Given the description of an element on the screen output the (x, y) to click on. 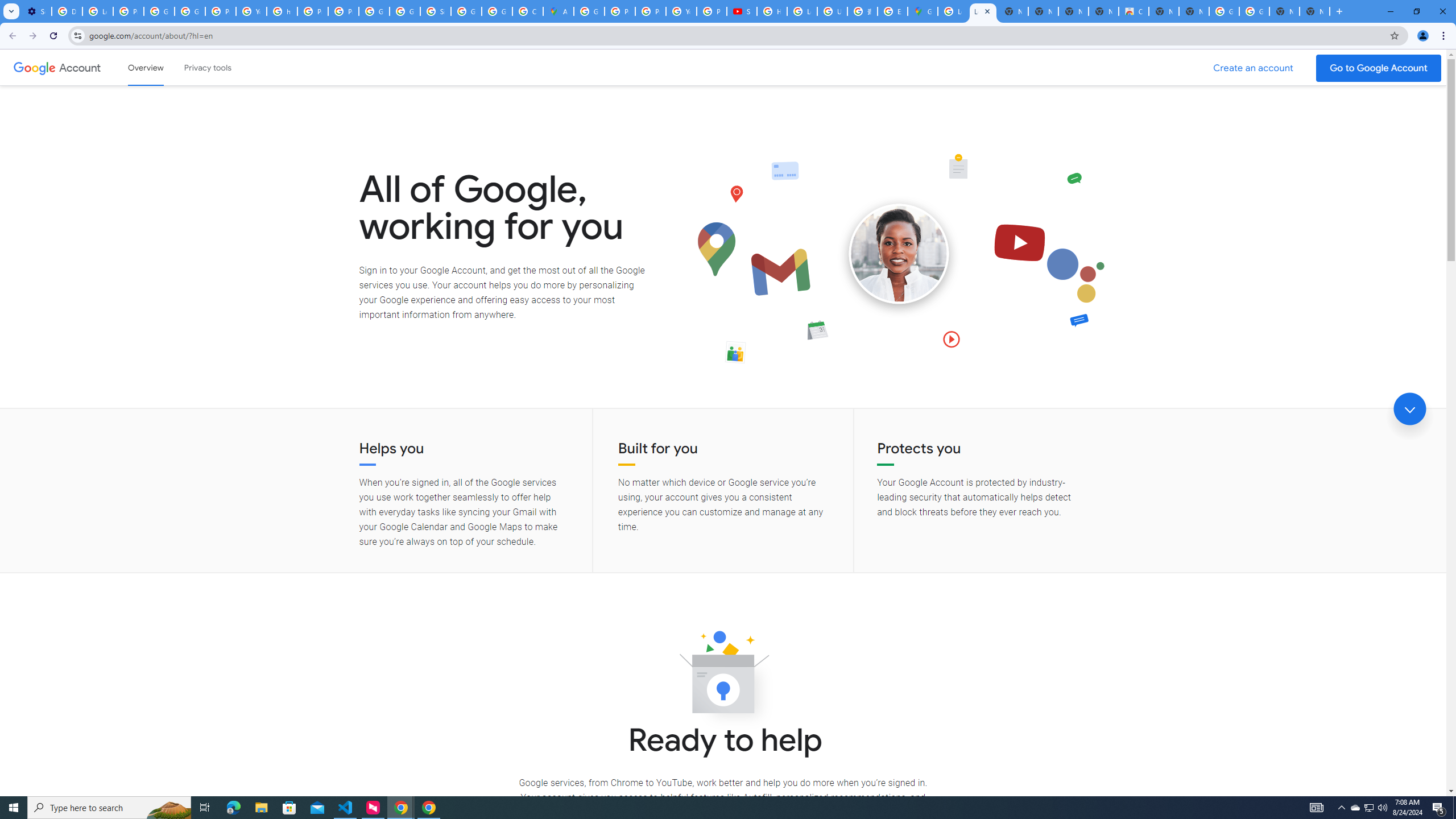
Create your Google Account (527, 11)
Ready to help (722, 675)
Sign in - Google Accounts (434, 11)
Google Maps (922, 11)
Subscriptions - YouTube (741, 11)
Privacy tools (207, 67)
Chrome Web Store (1133, 11)
Explore new street-level details - Google Maps Help (892, 11)
